Given the description of an element on the screen output the (x, y) to click on. 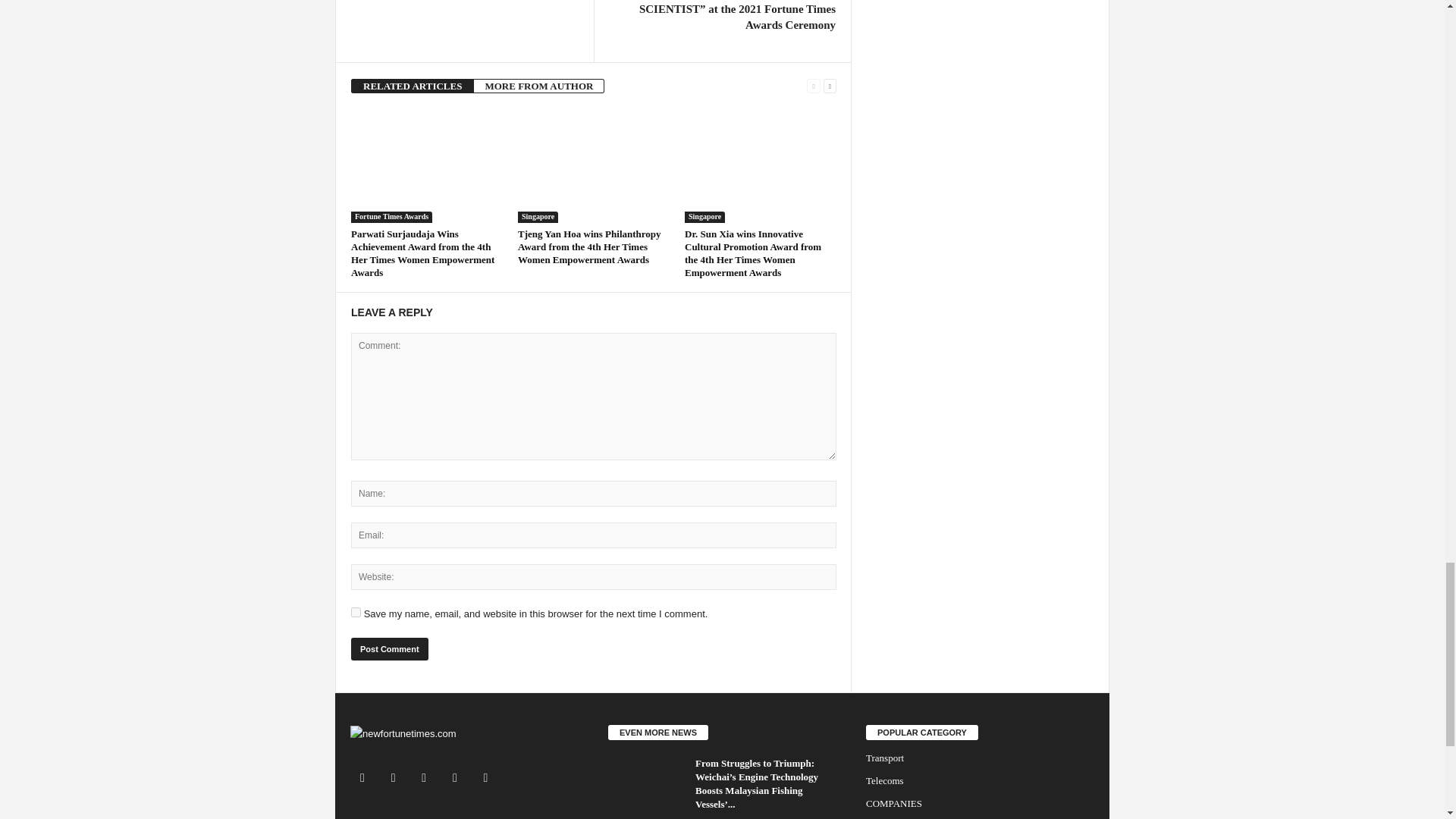
Post Comment (389, 649)
yes (355, 612)
